Given the description of an element on the screen output the (x, y) to click on. 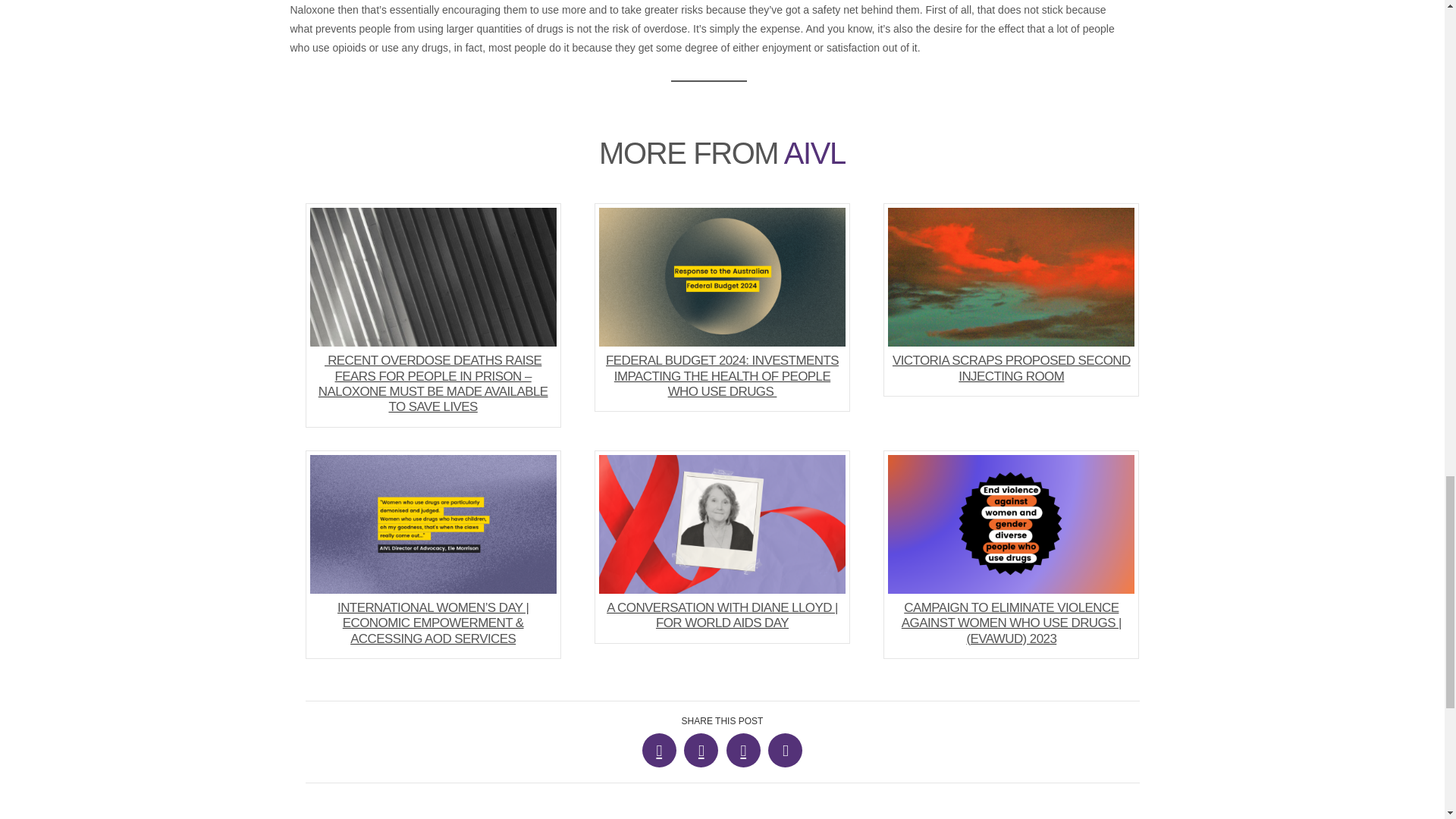
VICTORIA SCRAPS PROPOSED SECOND INJECTING ROOM (1010, 299)
